Given the description of an element on the screen output the (x, y) to click on. 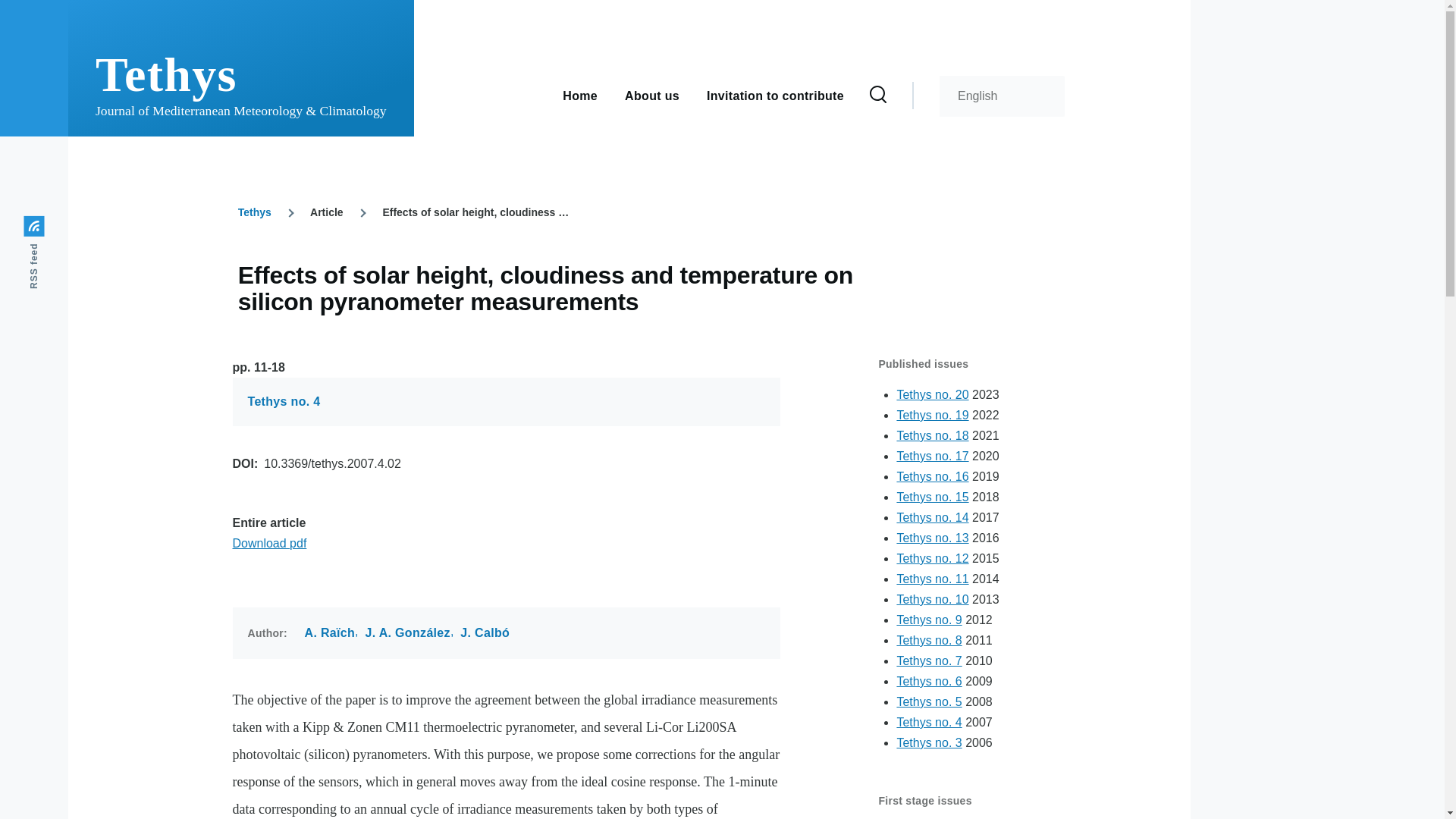
Skip to main content (595, 6)
Tethys no. 15 (932, 496)
Tethys no. 4 (928, 721)
Tethys no. 19 (932, 414)
Tethys no. 8 (928, 640)
Tethys no. 20 (932, 394)
Tethys no. 14 (932, 517)
Tethys no. 17 (932, 455)
pdf (268, 543)
Tethys no. 12 (932, 558)
RSS feed (60, 225)
Tethys no. 3 (928, 742)
Tethys no. 5 (928, 701)
Tethys (254, 212)
Tethys no. 9 (928, 619)
